Given the description of an element on the screen output the (x, y) to click on. 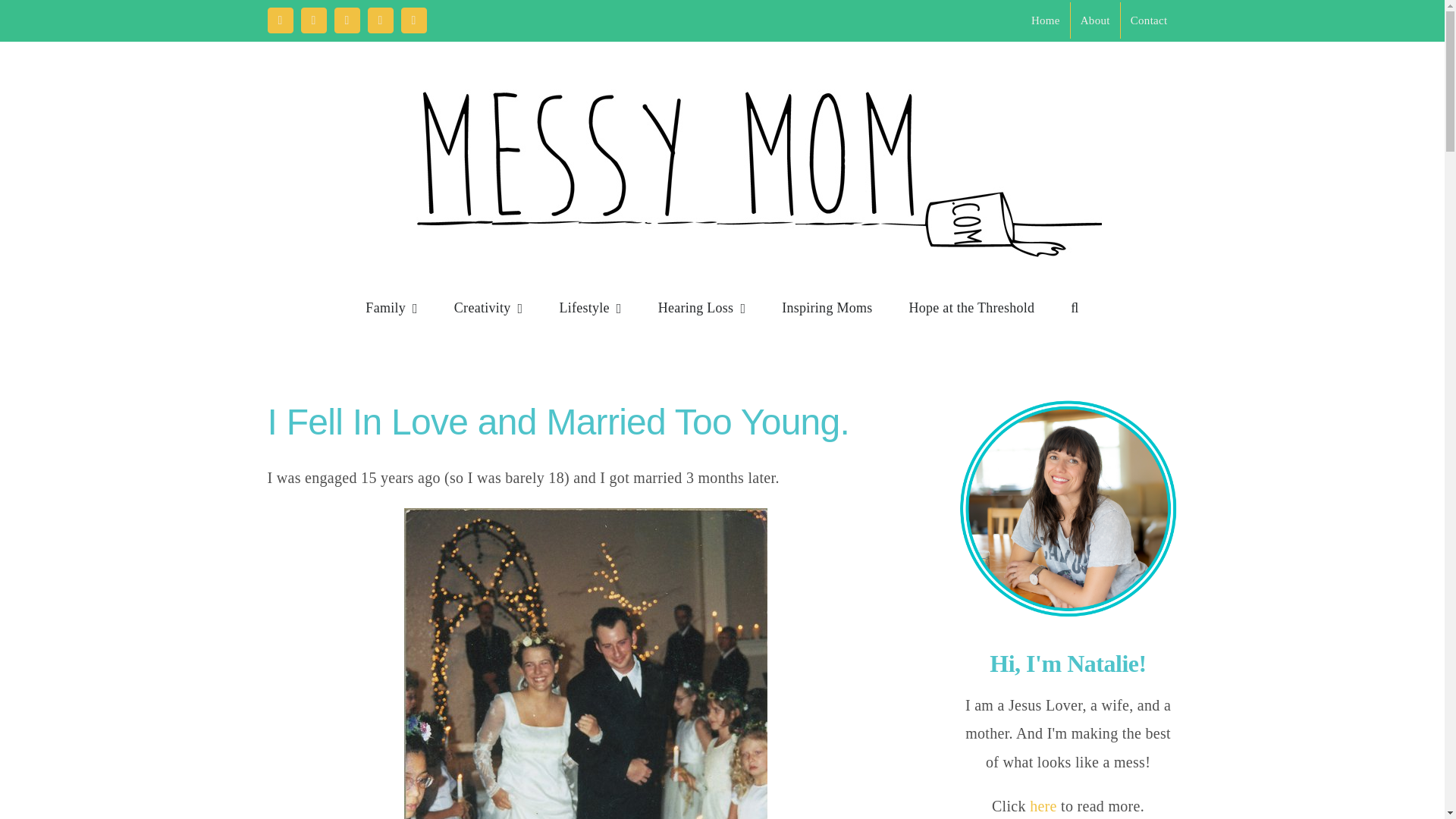
Tiktok (413, 20)
Inspiring Moms (825, 307)
Creativity (488, 307)
Pinterest (379, 20)
Tiktok (413, 20)
Instagram (346, 20)
X (312, 20)
About (1094, 20)
Home (1046, 20)
Instagram (346, 20)
Facebook (279, 20)
Search (1074, 307)
X (312, 20)
Contact (1149, 20)
Pinterest (379, 20)
